Given the description of an element on the screen output the (x, y) to click on. 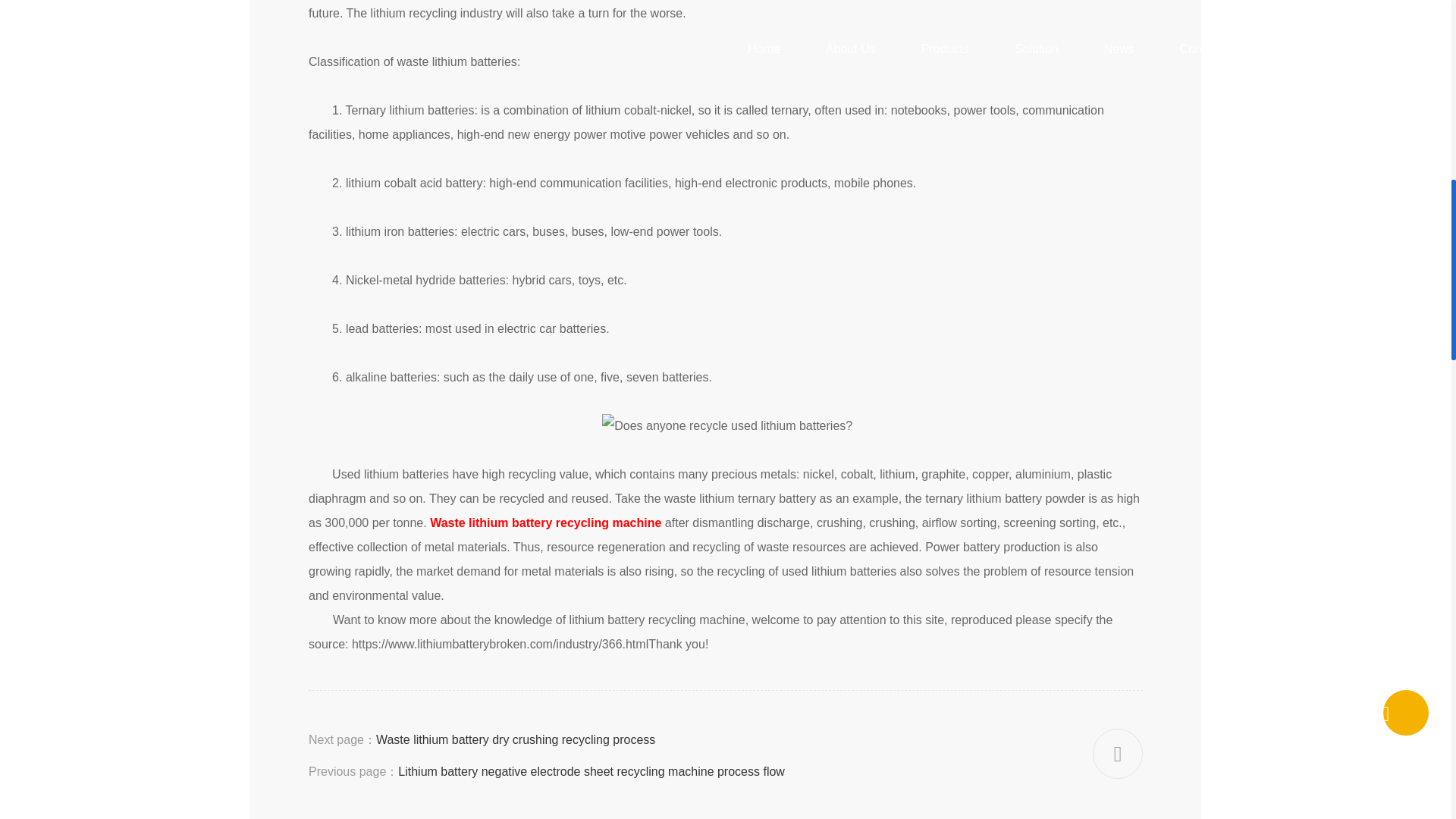
Waste lithium battery dry crushing recycling process (515, 739)
Waste lithium battery recycling machine (545, 522)
